Given the description of an element on the screen output the (x, y) to click on. 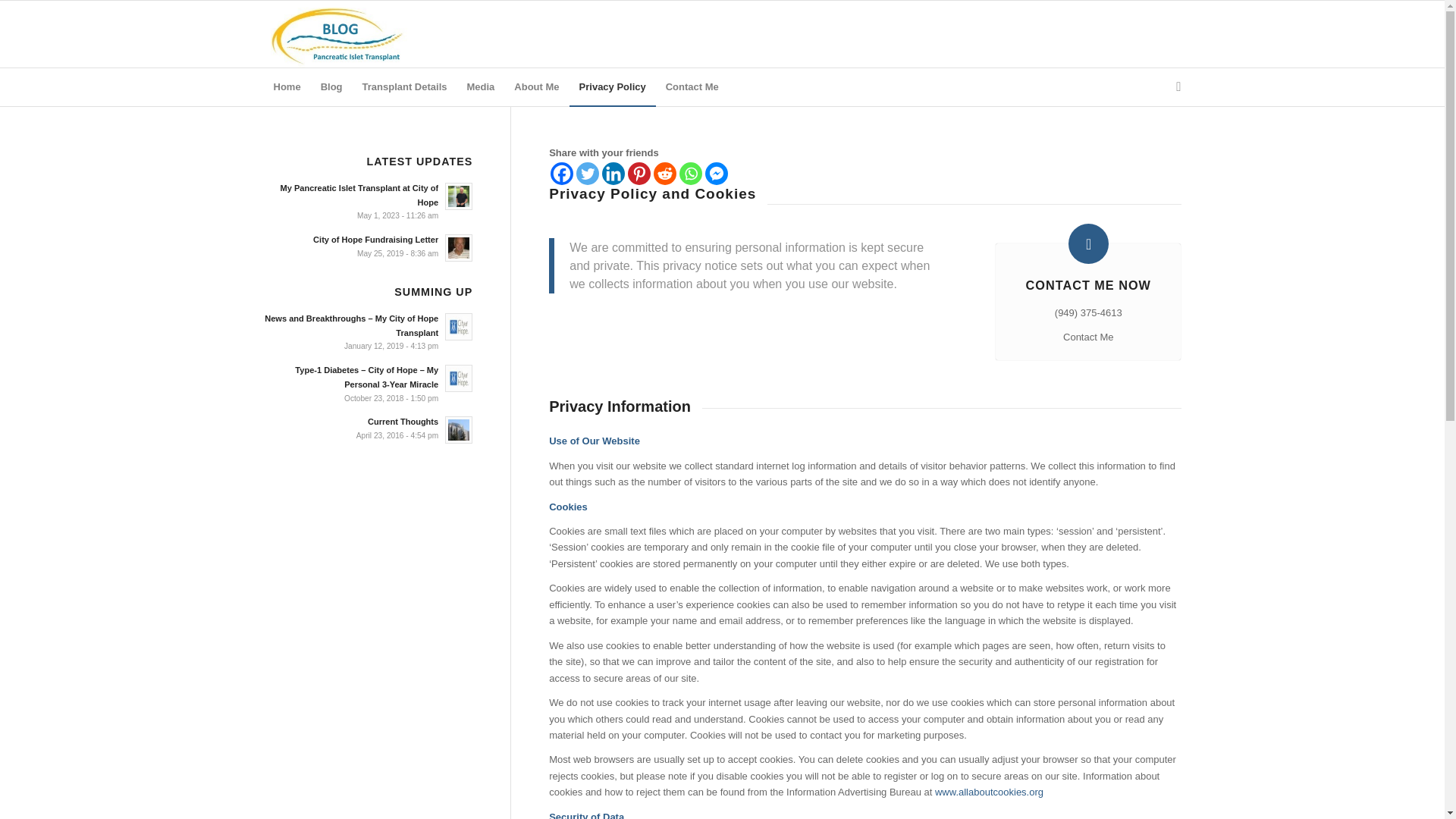
About Me (536, 86)
Privacy Policy (612, 86)
Home (287, 86)
www.allaboutcookies.org (988, 791)
Contact Me (692, 86)
Whatsapp (690, 173)
Twitter (587, 173)
Facebook Messenger (716, 173)
Media (480, 86)
Pinterest (638, 173)
